Given the description of an element on the screen output the (x, y) to click on. 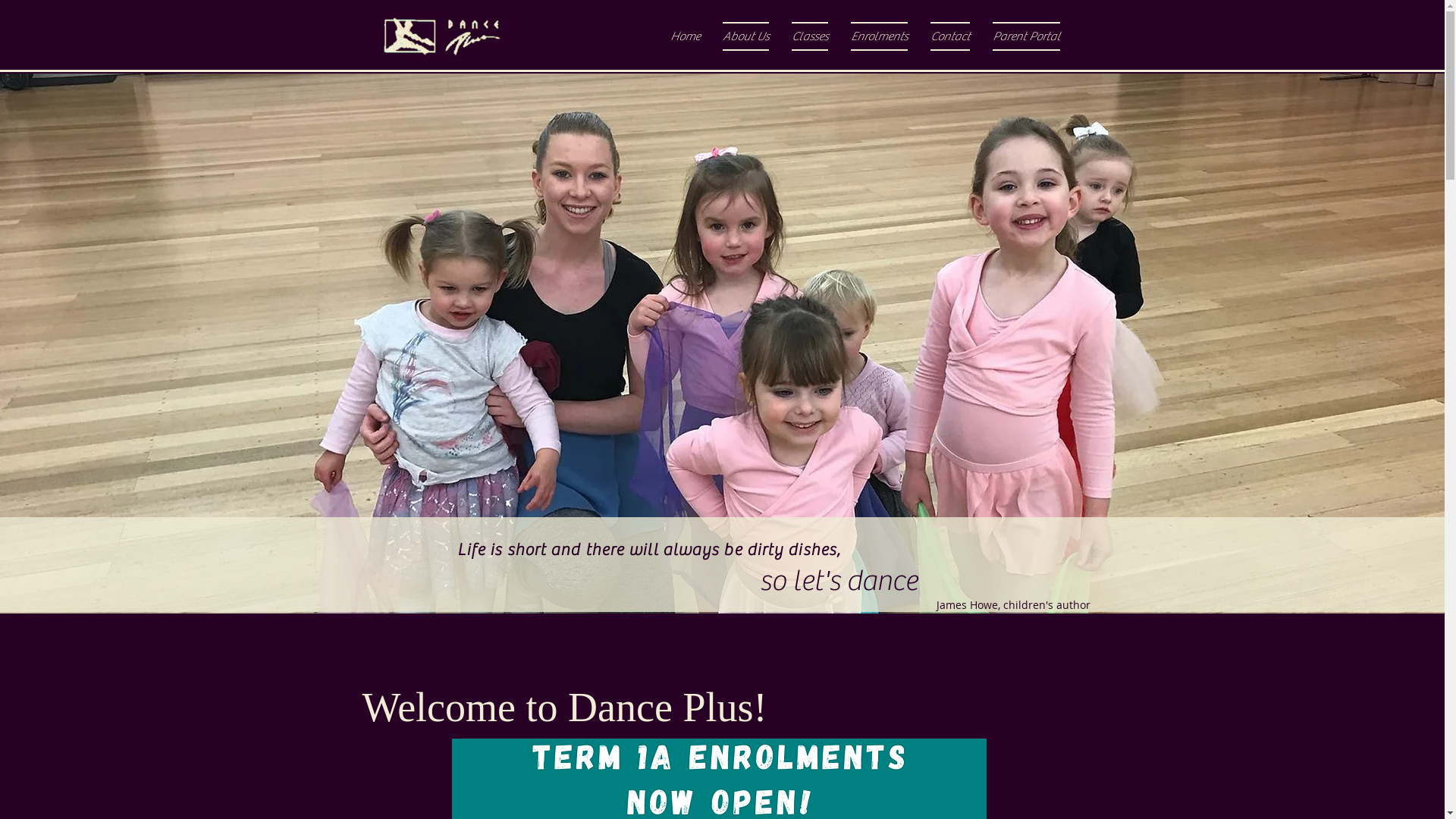
Enrolments Element type: text (878, 35)
Parent Portal Element type: text (1020, 35)
Classes Element type: text (808, 35)
Contact Element type: text (950, 35)
About Us Element type: text (745, 35)
Home Element type: text (684, 35)
